Given the description of an element on the screen output the (x, y) to click on. 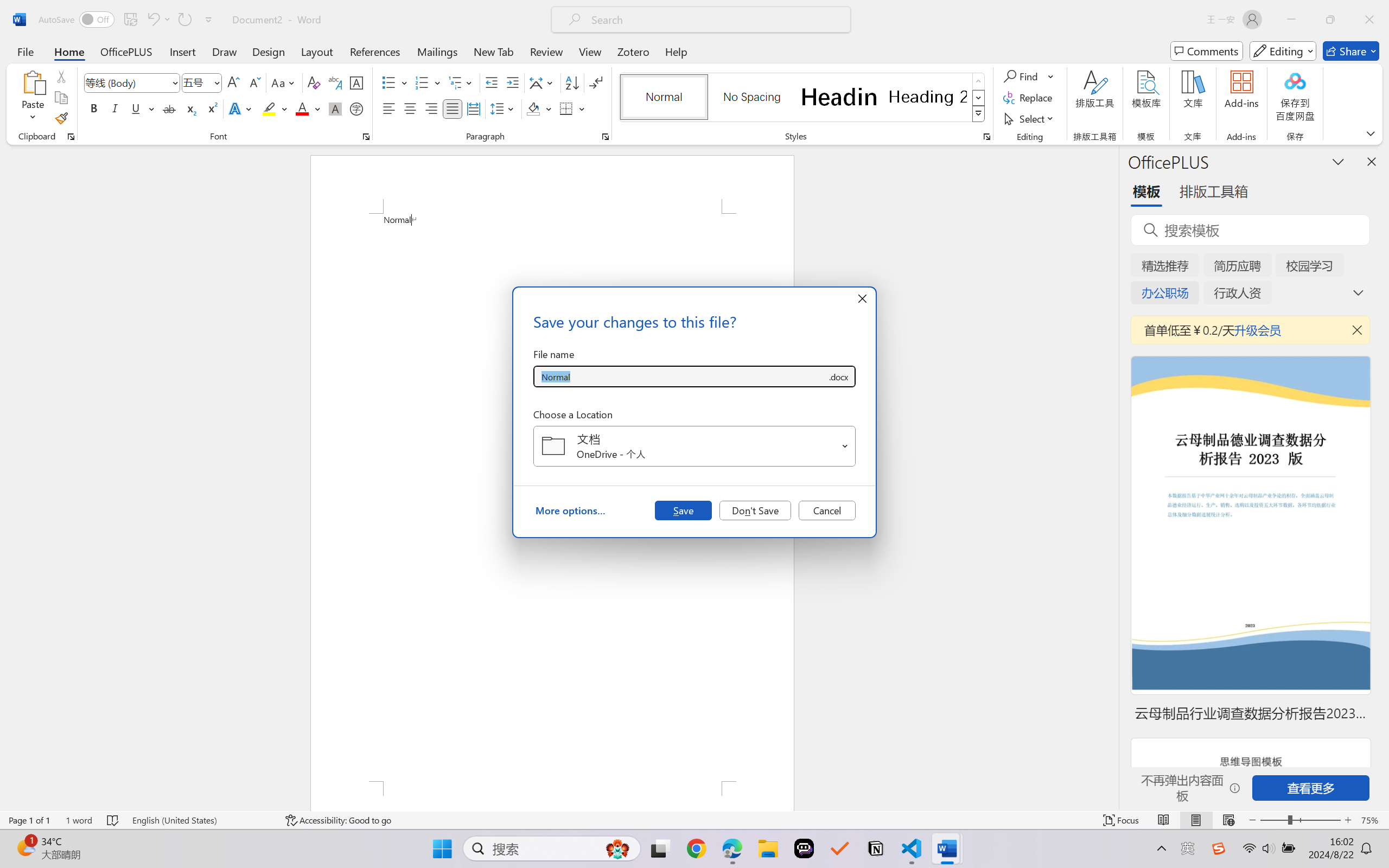
Phonetic Guide... (334, 82)
Task Pane Options (1338, 161)
Microsoft search (715, 19)
Bold (94, 108)
Web Layout (1228, 819)
Line and Paragraph Spacing (503, 108)
Select (1030, 118)
Distributed (473, 108)
Class: Image (1218, 847)
Undo Apply Quick Style (158, 19)
Font (132, 82)
AutoSave (76, 19)
Numbering (428, 82)
